Given the description of an element on the screen output the (x, y) to click on. 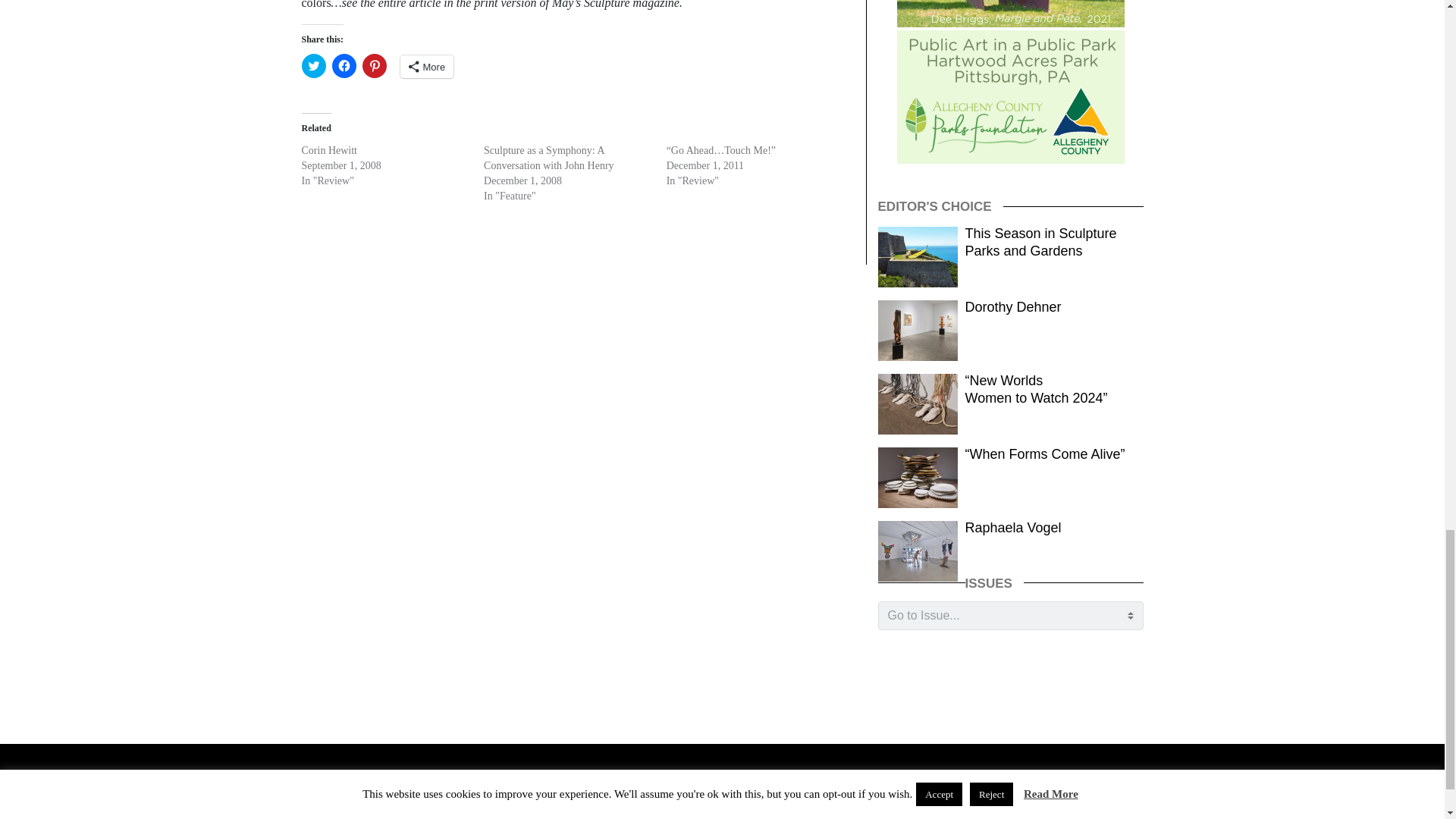
More (427, 66)
This Season in Sculpture Parks and Gardens (1040, 242)
Corin Hewitt (329, 149)
Click to share on Facebook (343, 65)
Sculpture as a Symphony: A Conversation with John Henry (547, 157)
Dorothy Dehner (1013, 306)
Click to share on Twitter (313, 65)
Click to share on Pinterest (374, 65)
